Given the description of an element on the screen output the (x, y) to click on. 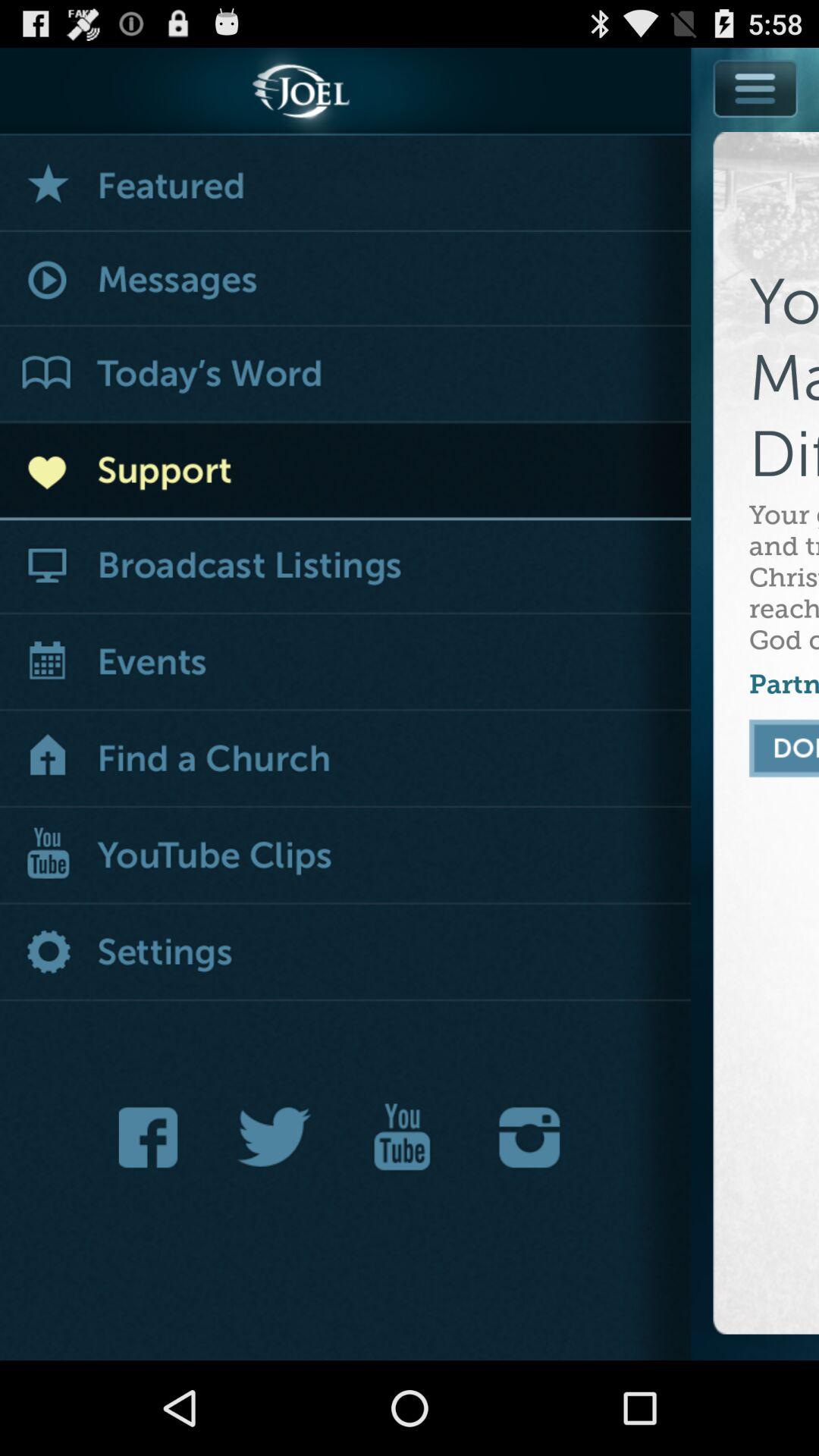
share to twitter (274, 1137)
